Given the description of an element on the screen output the (x, y) to click on. 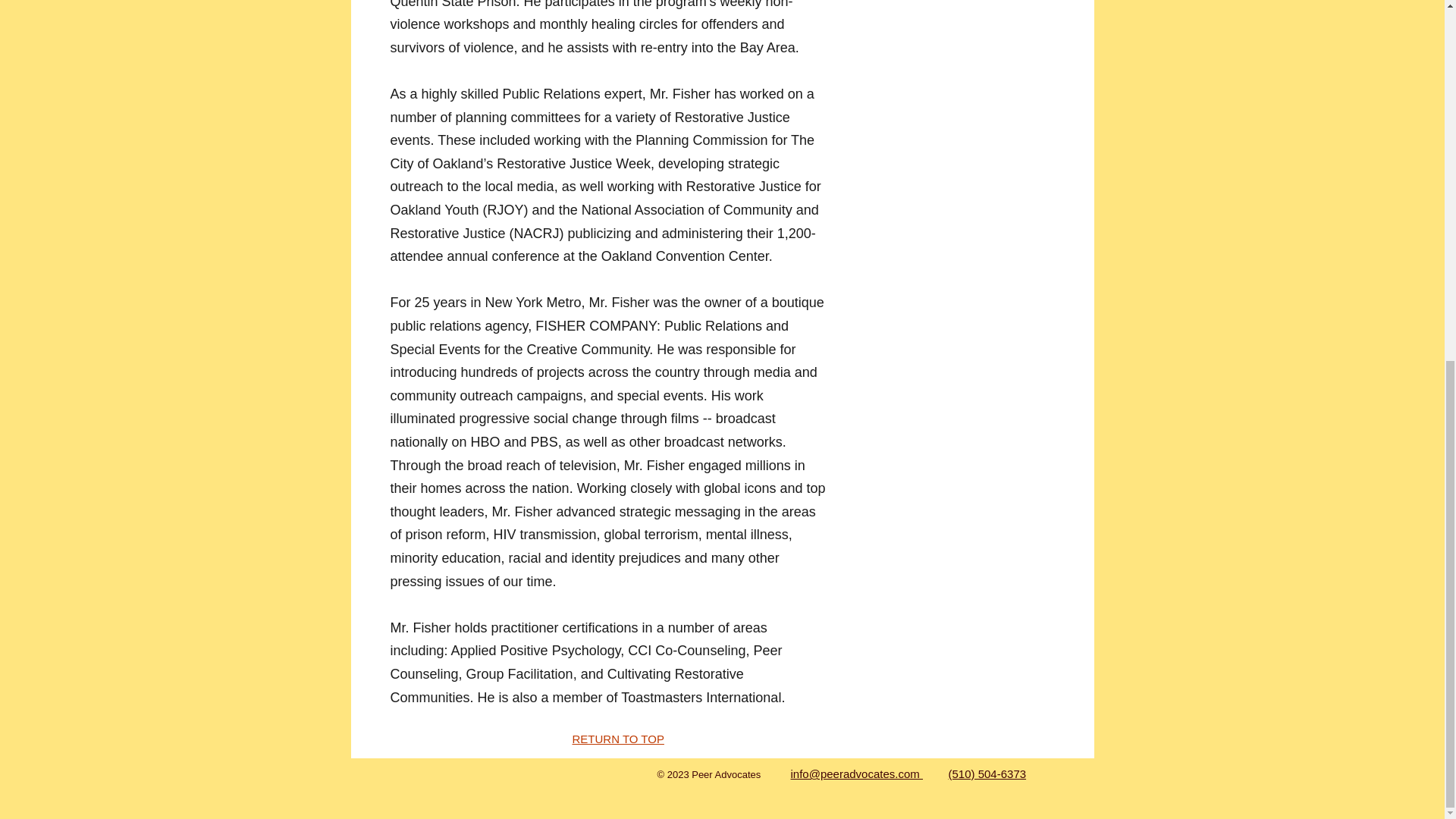
RETURN TO TOP (617, 738)
